Given the description of an element on the screen output the (x, y) to click on. 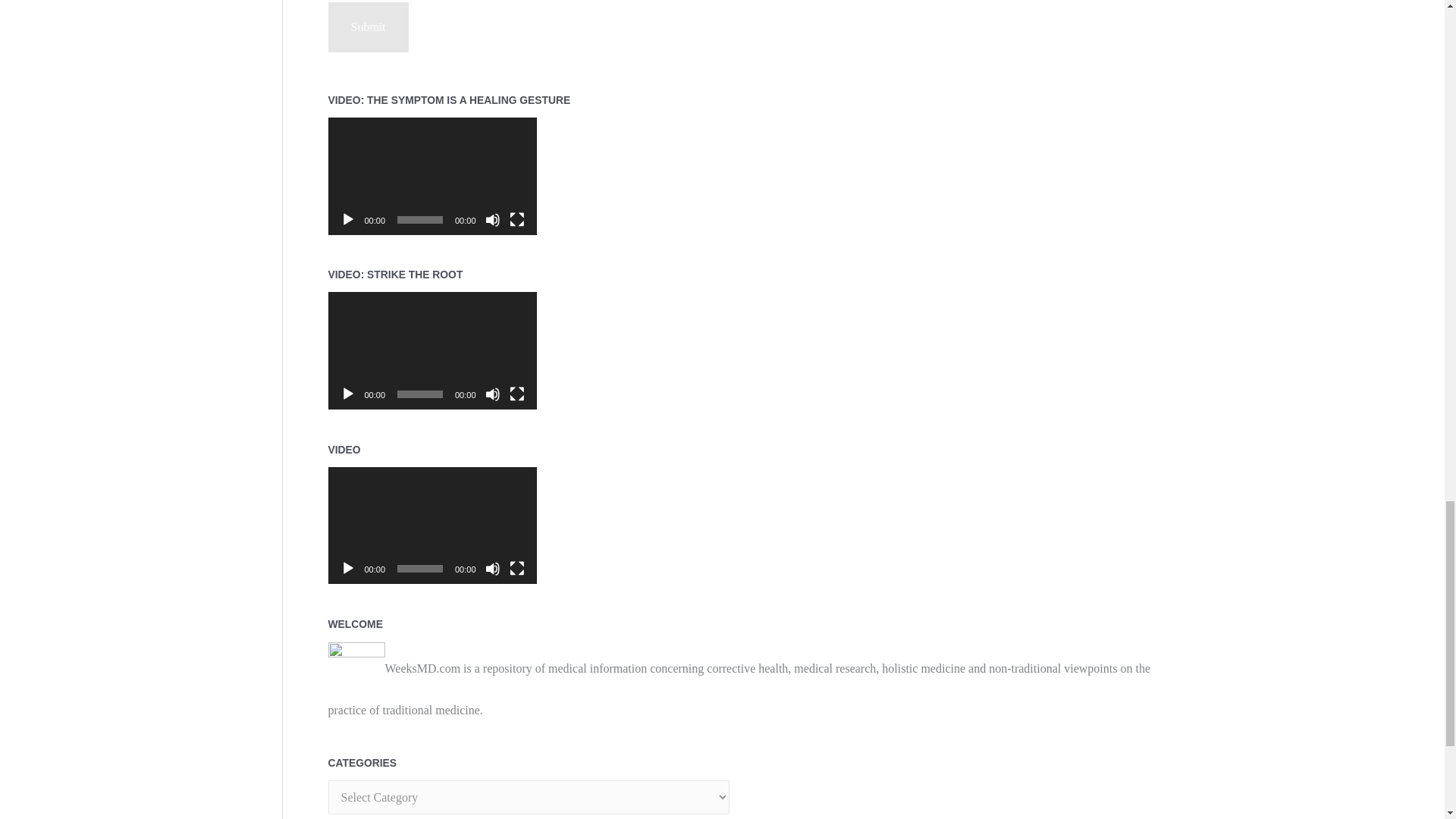
Mute (492, 394)
Fullscreen (516, 394)
Play (347, 394)
Mute (492, 568)
Fullscreen (516, 219)
Submit (367, 27)
Mute (492, 219)
Play (347, 219)
Play (347, 568)
